Given the description of an element on the screen output the (x, y) to click on. 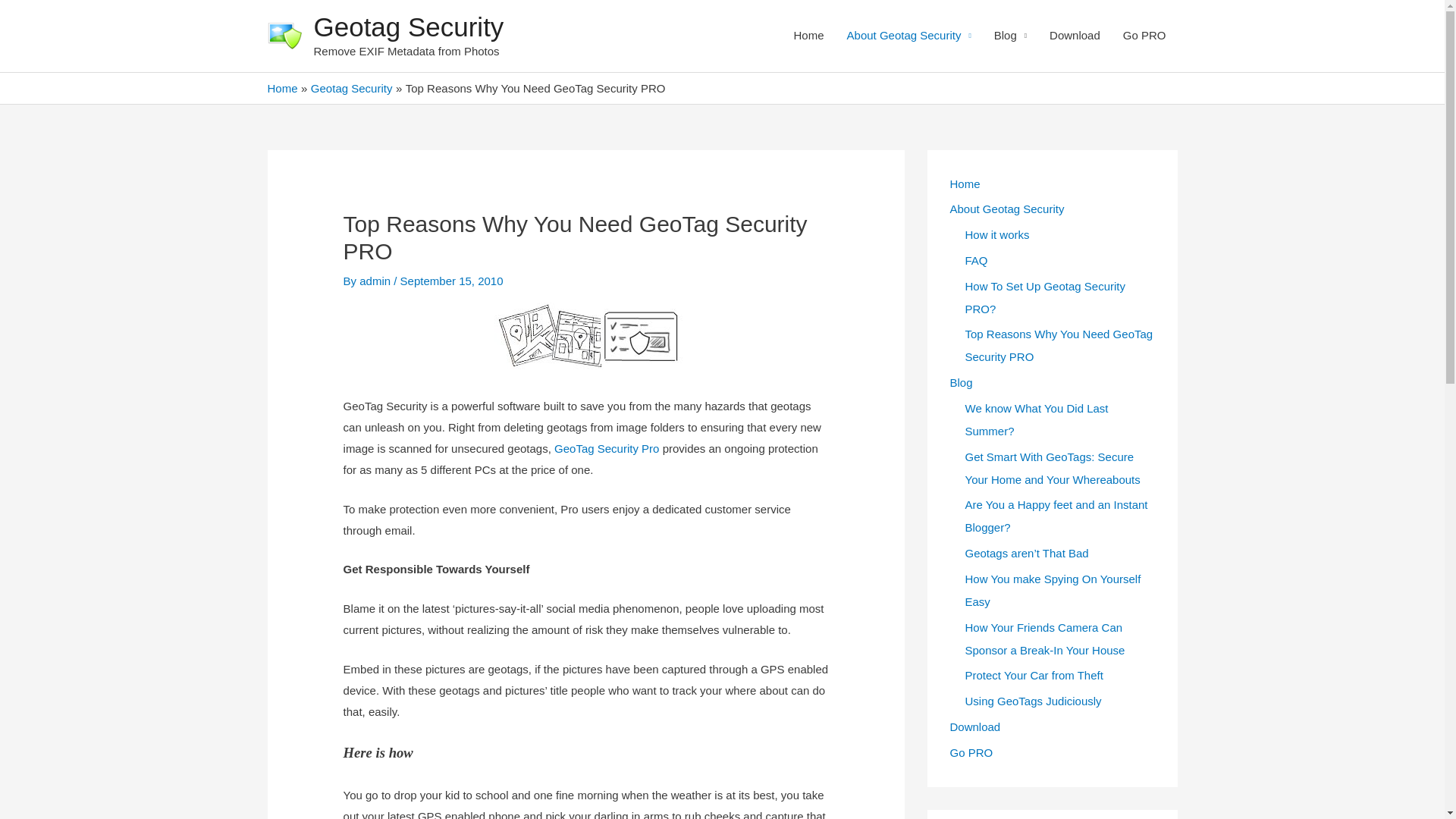
GeoTag Security Pro (606, 448)
How To Set Up Geotag Security PRO? (1044, 296)
FAQ (975, 259)
View all posts by admin (376, 280)
Geotag Security (352, 88)
We know What You Did Last Summer? (1035, 419)
Go PRO (1144, 36)
About Geotag Security (1006, 208)
Top Reasons Why You Need GeoTag Security PRO (1058, 345)
admin (376, 280)
